Given the description of an element on the screen output the (x, y) to click on. 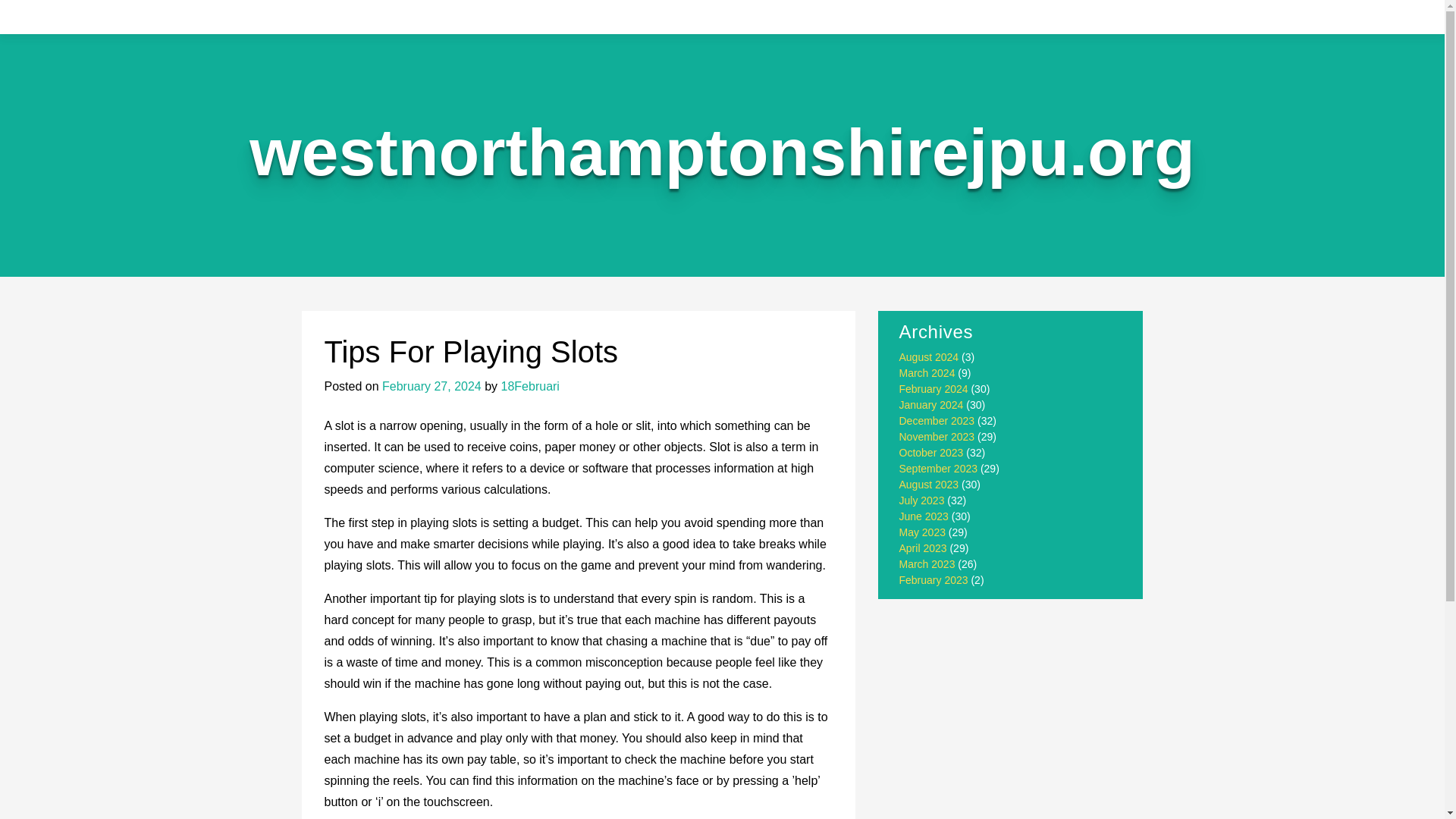
March 2023 (927, 563)
June 2023 (924, 516)
February 2023 (933, 580)
November 2023 (937, 436)
18Februari (529, 386)
September 2023 (938, 468)
February 2024 (933, 388)
January 2024 (931, 404)
May 2023 (921, 532)
February 27, 2024 (431, 386)
